Given the description of an element on the screen output the (x, y) to click on. 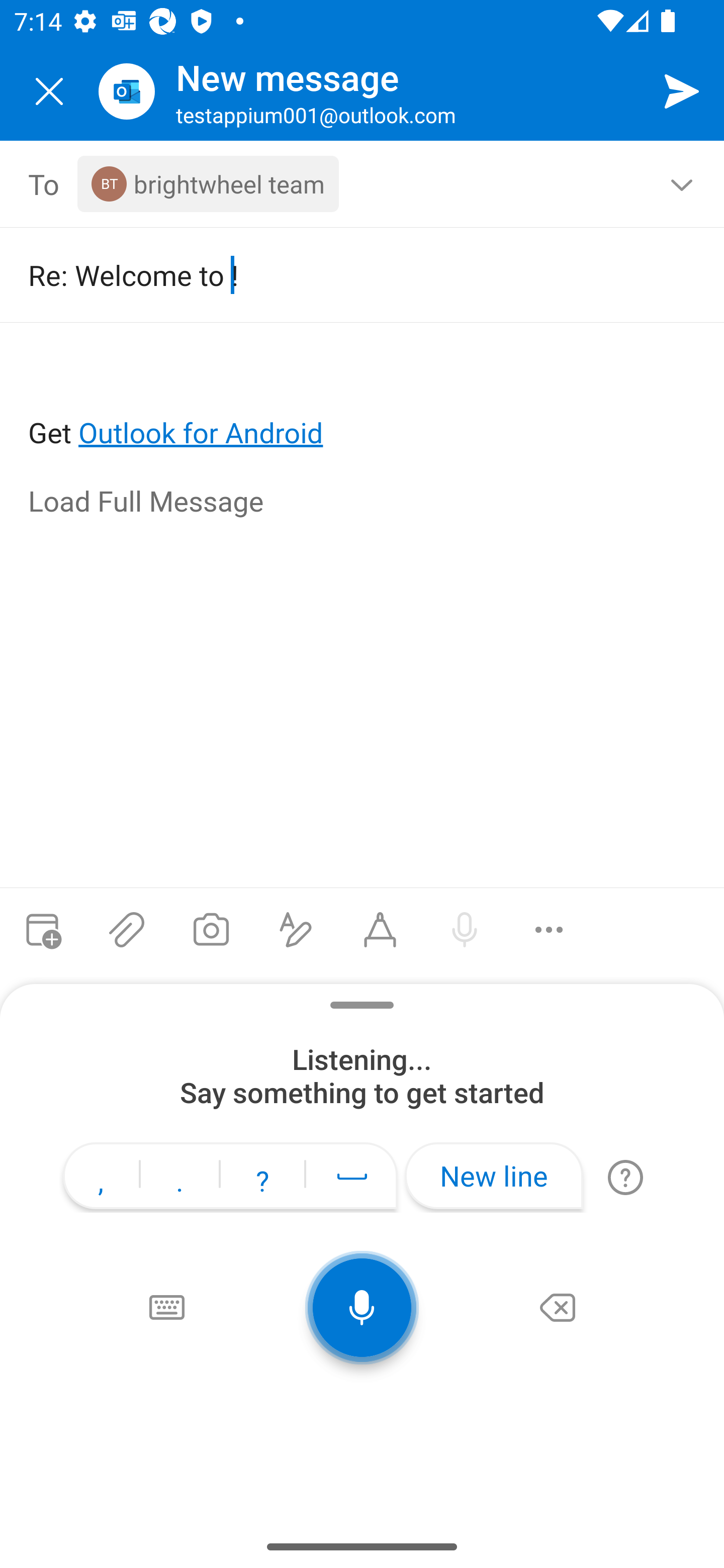
Close (49, 91)
Send (681, 90)
Re: Welcome to ! (347, 274)


Get Outlook for Android (363, 400)
Load Full Message (363, 502)
Attach meeting (42, 929)
Attach files (126, 929)
Take a photo (210, 929)
Show formatting options (295, 929)
Start Ink compose (380, 929)
More options (548, 929)
  Insert Space button (351, 1175)
New line new line button (493, 1175)
Help (624, 1177)
, Comma button (100, 1177)
. Period button (179, 1177)
? Question mark button (262, 1177)
Microphone (361, 1307)
switch to alphanumeric keyboard (165, 1307)
backspace (557, 1307)
